Given the description of an element on the screen output the (x, y) to click on. 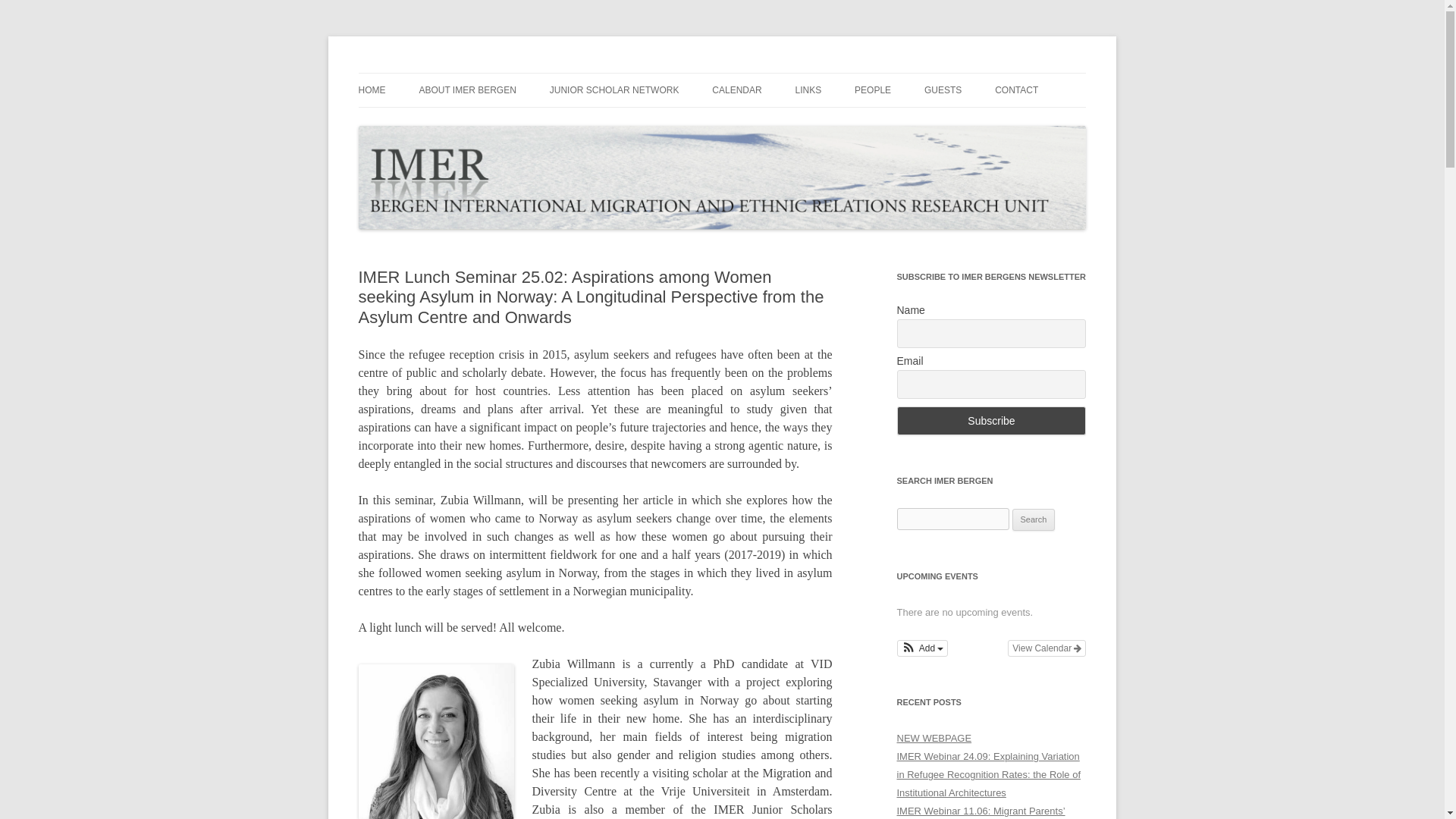
NEW WEBPAGE (933, 737)
View Calendar (1046, 647)
Search (1033, 519)
PEOPLE (872, 90)
JUNIOR SCHOLAR NETWORK (614, 90)
CONTACT (1016, 90)
GUESTS (942, 90)
Subscribe (991, 420)
Subscribe (991, 420)
IMER Bergen, International Migration and Ethnic Relations (631, 72)
ABOUT IMER BERGEN (467, 90)
Search (1033, 519)
CALENDAR (736, 90)
